Given the description of an element on the screen output the (x, y) to click on. 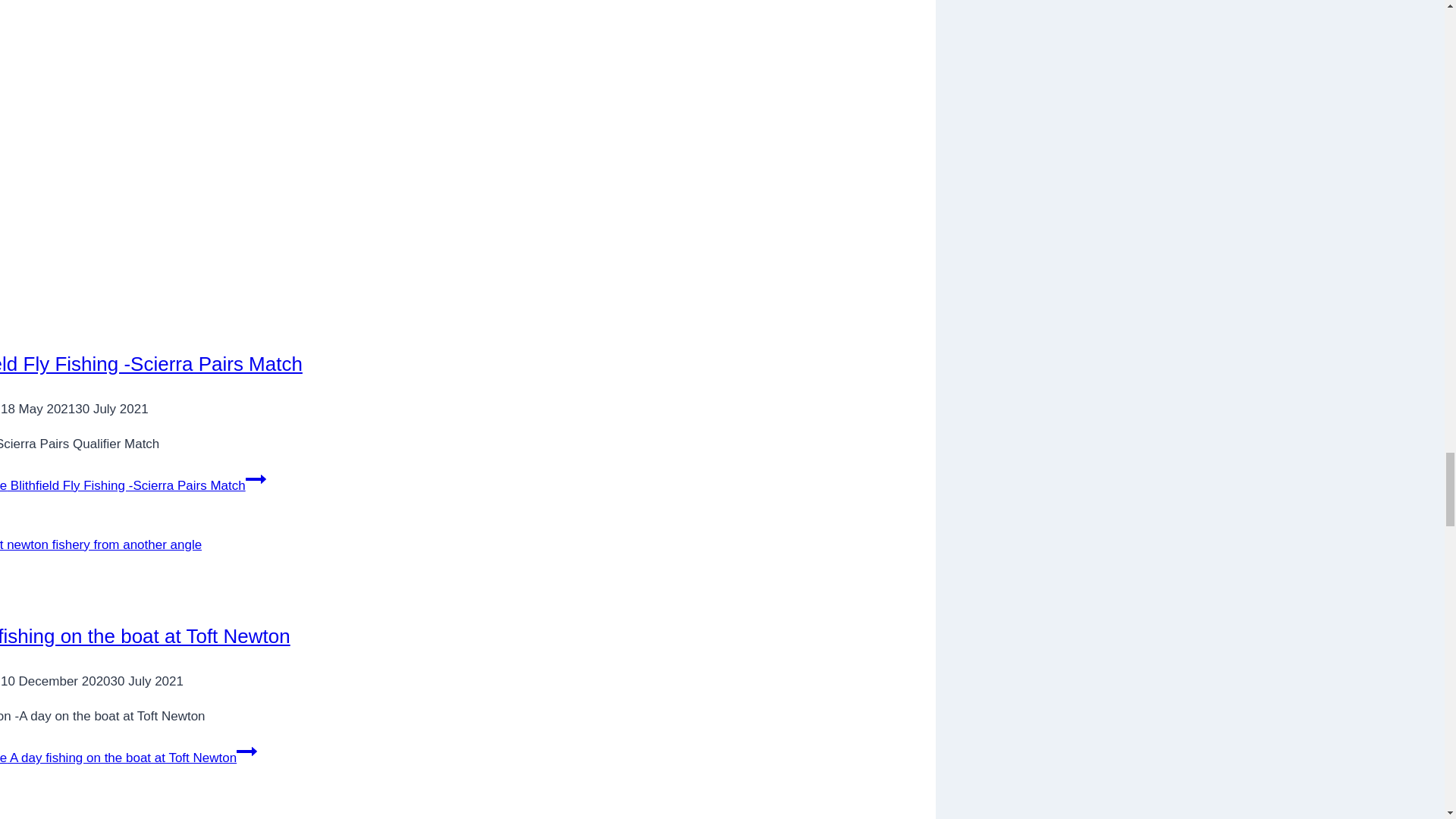
Blithfield Fly Fishing -Scierra Pairs Match (151, 363)
Continue (246, 751)
Continue (256, 478)
A day fishing on the boat at Toft Newton (144, 635)
